Given the description of an element on the screen output the (x, y) to click on. 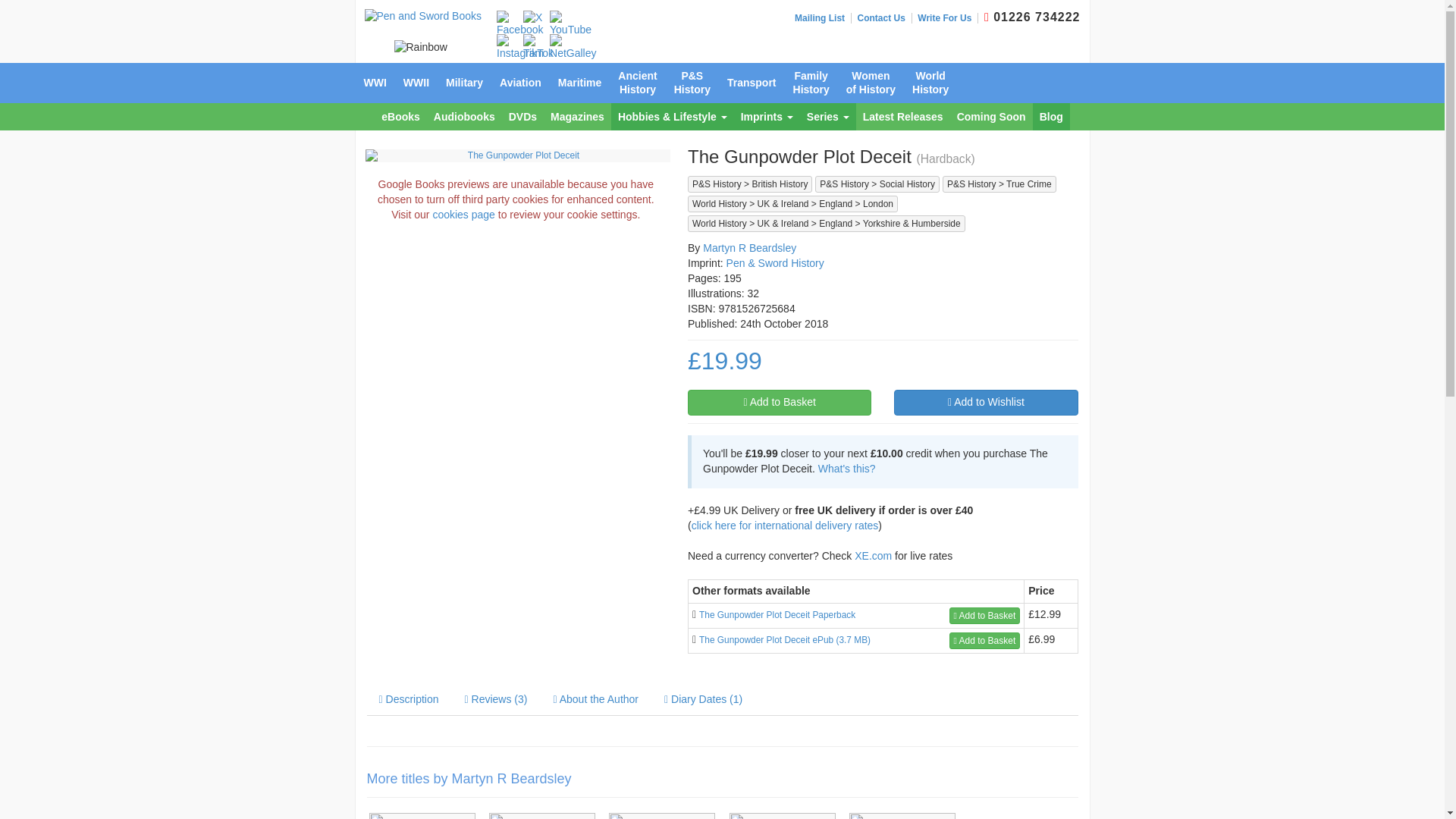
Heroes of the RNLI (781, 816)
X (531, 17)
Contact Us (884, 18)
Write For Us (947, 18)
TikTok (537, 47)
The Women Who Saved Catholic England (541, 816)
Instagram (519, 47)
Mailing List (822, 18)
YouTube (570, 23)
Facebook (519, 23)
